Given the description of an element on the screen output the (x, y) to click on. 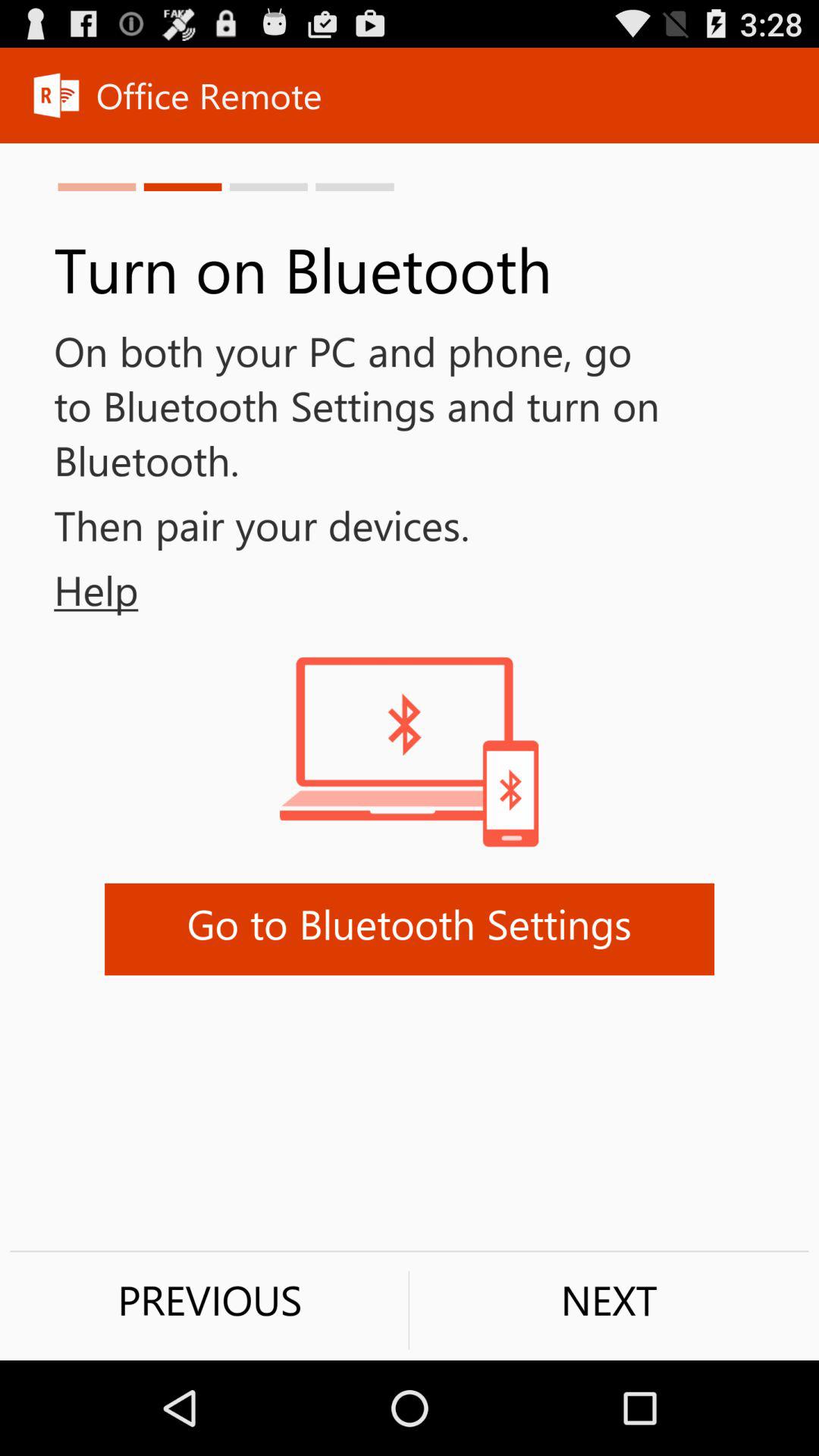
choose the button above go to bluetooth icon (69, 589)
